Given the description of an element on the screen output the (x, y) to click on. 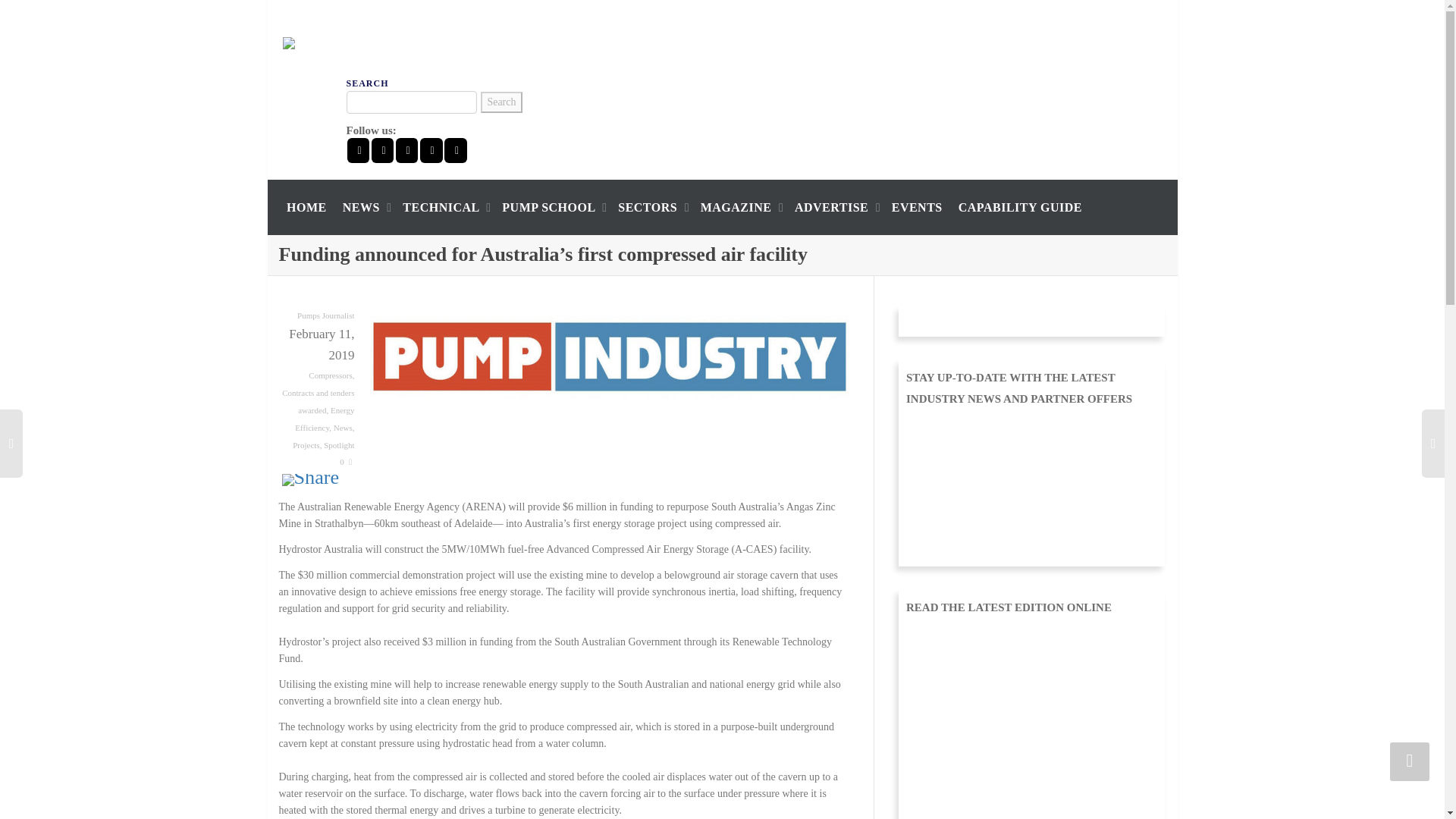
PUMP SCHOOL (552, 207)
Pump school (552, 207)
Pumps Journalist (325, 315)
TECHNICAL (444, 207)
Search (500, 102)
CAPABILITY GUIDE (1019, 207)
ADVERTISE (835, 207)
Pump Industry Magazine (357, 42)
Contracts and tenders awarded (317, 401)
Sectors (650, 207)
Search (500, 102)
EVENTS (916, 207)
Technical (444, 207)
MAGAZINE (739, 207)
Search (500, 102)
